Given the description of an element on the screen output the (x, y) to click on. 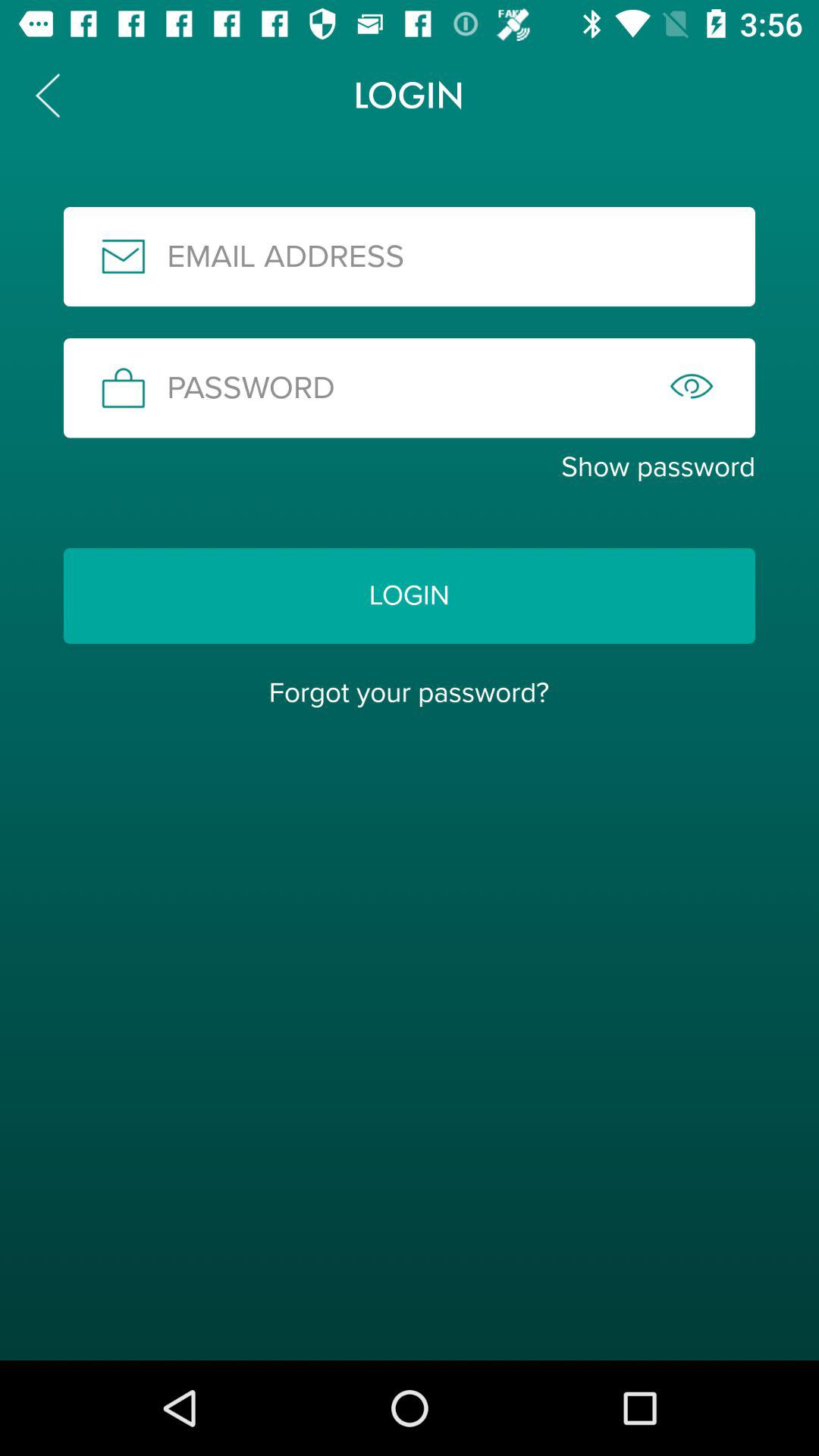
enter password (409, 387)
